Given the description of an element on the screen output the (x, y) to click on. 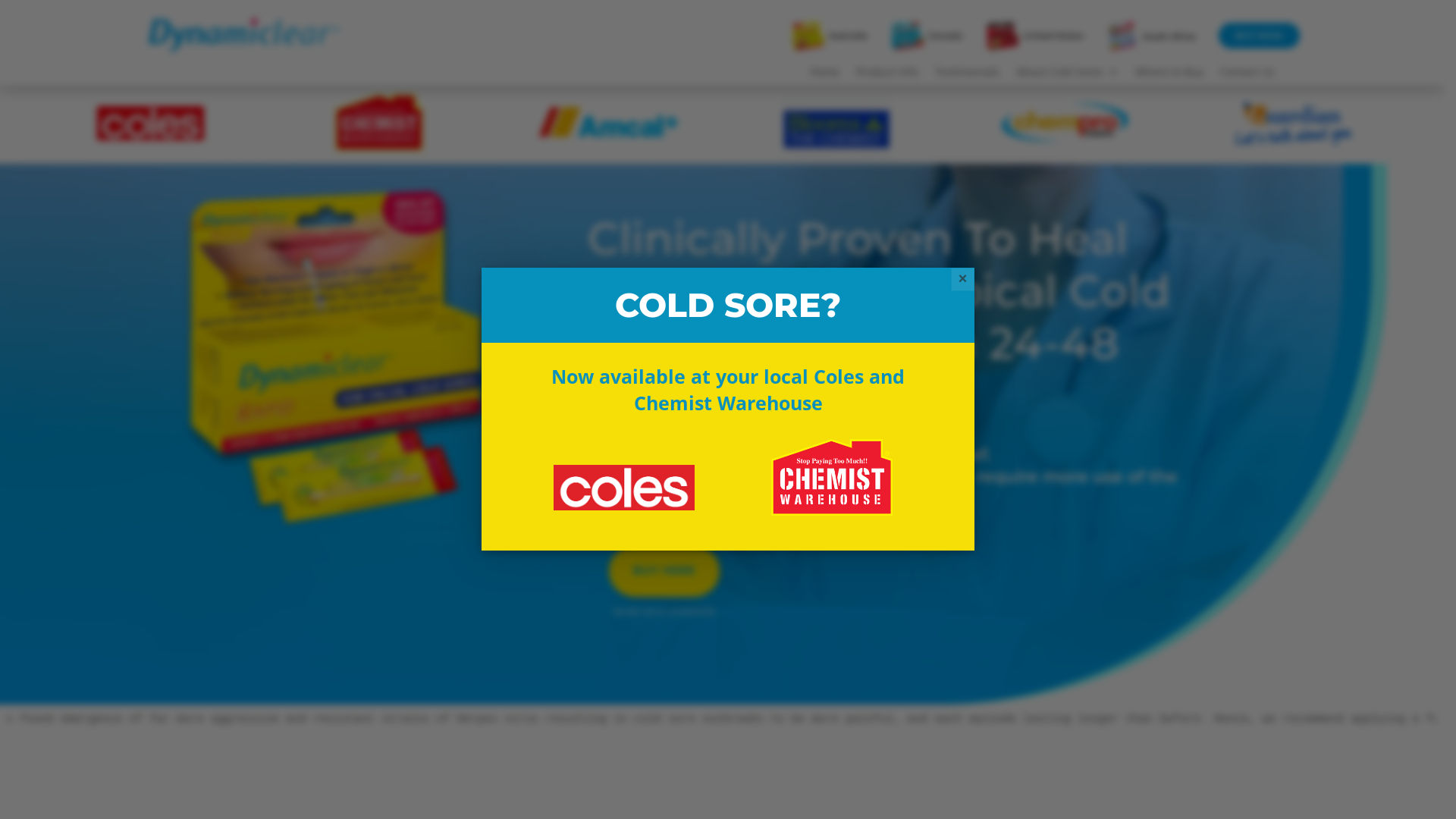
South Africa Element type: text (1168, 35)
Dynamiclear-logo-03-1 Element type: hover (242, 35)
Amcal-262x58 Element type: hover (608, 122)
Where to Buy Element type: text (1169, 74)
xGuardian_LTAY_cmyk_stacked_blu.png.pagespeed.ic_.owDLUQJVIZ Element type: hover (1294, 122)
BUY HERE Element type: text (663, 570)
BUY NOW Element type: text (1258, 35)
Product Info Element type: text (887, 74)
About Cold Sores Element type: text (1067, 74)
chemist-warehouse-logo-1914FA0C63-seeklogo.com Element type: hover (831, 477)
Contact Us Element type: text (1247, 74)
Testimonials Element type: text (967, 74)
chemist-warehouse-logo-1914FA0C63-seeklogo.com Element type: hover (379, 122)
Chempro-Logo-WB Element type: hover (1065, 122)
Australia Element type: text (847, 35)
Canada Element type: text (945, 35)
Blooms Element type: hover (836, 128)
Coles Logo Element type: hover (150, 123)
AU-DynRpd-3d-Current-Package-2021-(20-10-21) Element type: hover (331, 355)
United States Element type: text (1052, 35)
Coles Logo Element type: hover (623, 487)
Home Element type: text (824, 74)
